Given the description of an element on the screen output the (x, y) to click on. 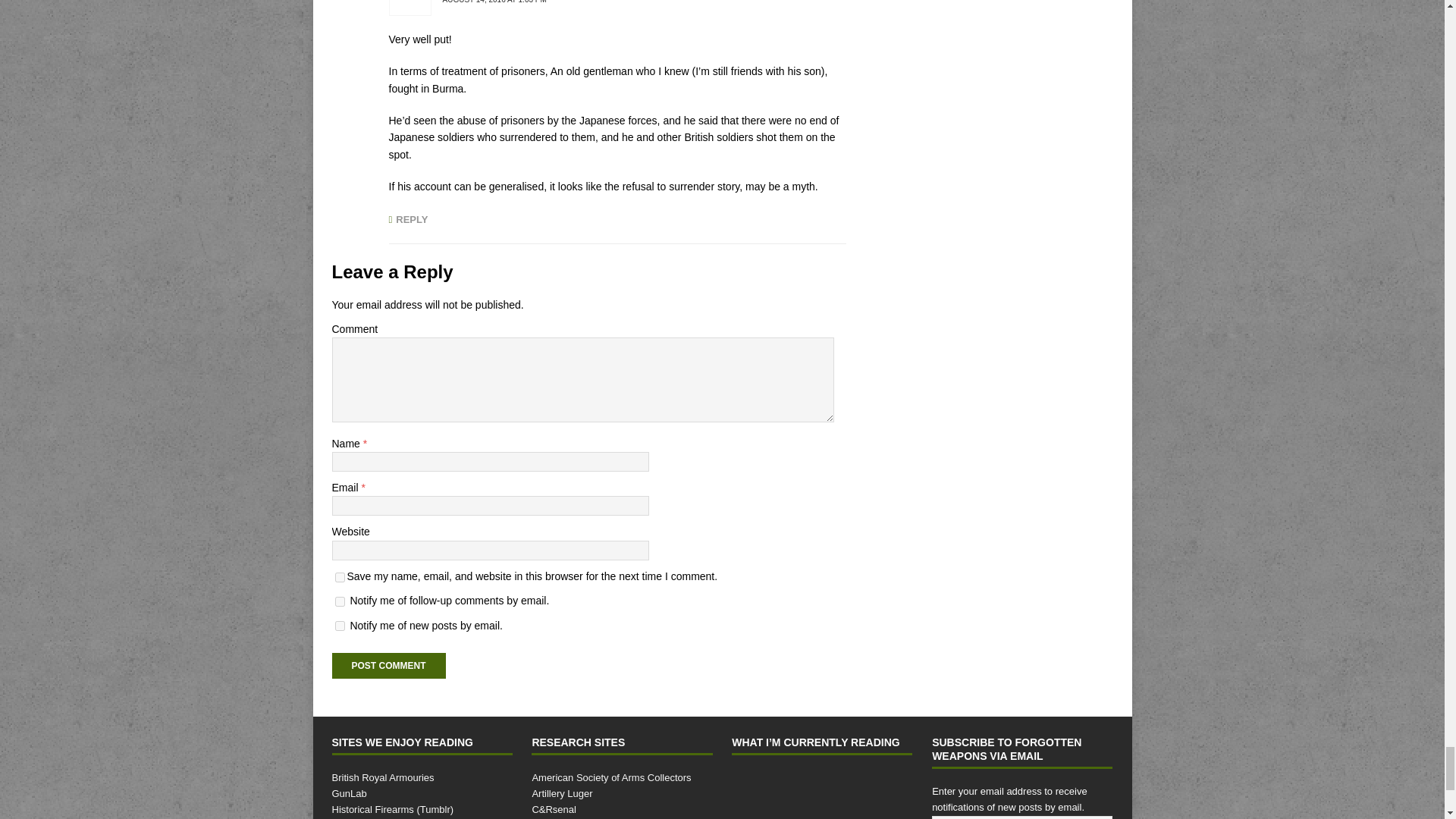
yes (339, 577)
subscribe (339, 625)
Post Comment (388, 665)
subscribe (339, 601)
